Given the description of an element on the screen output the (x, y) to click on. 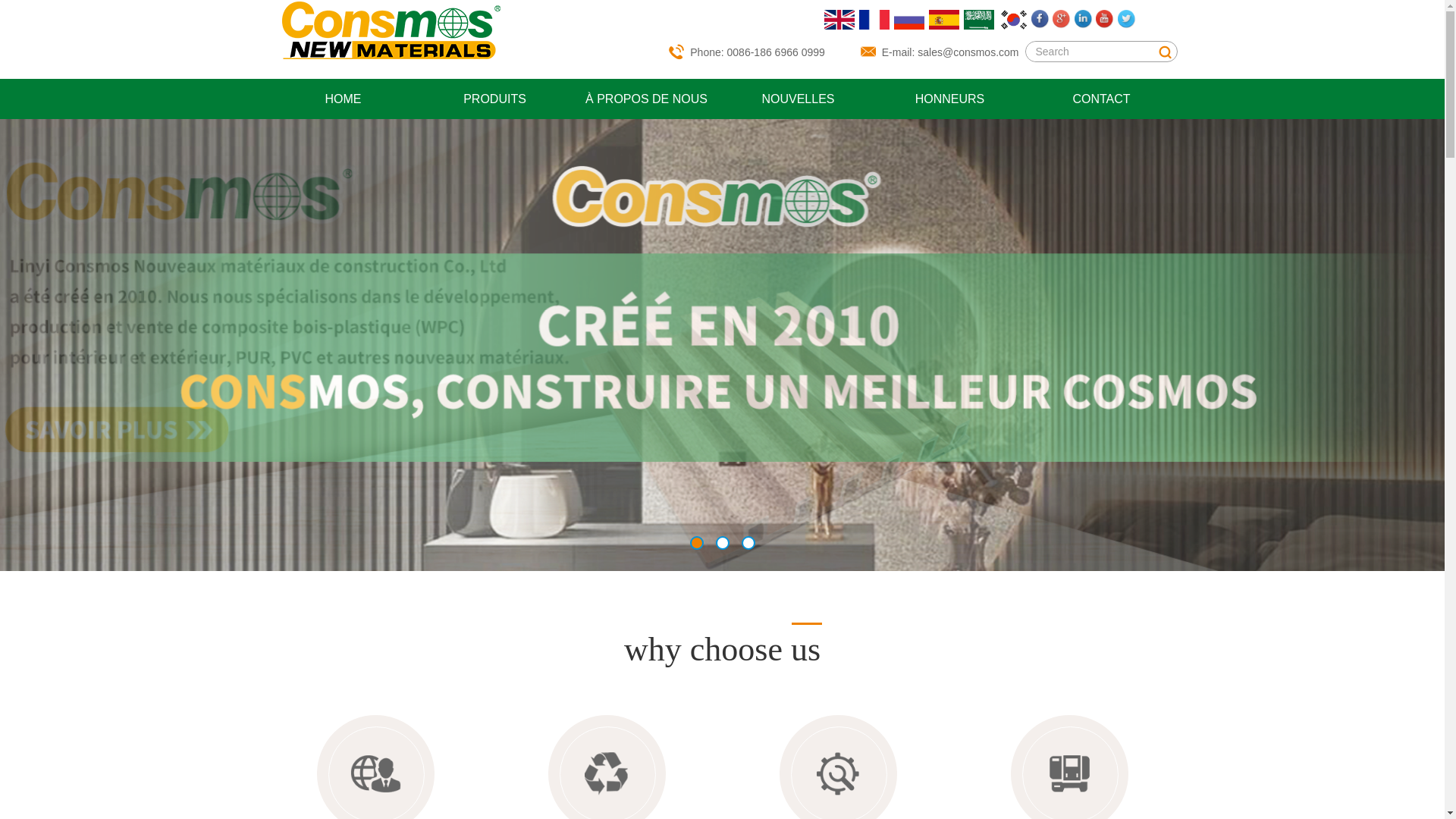
CONTACT Element type: text (1100, 98)
HONNEURS Element type: text (950, 98)
HOME Element type: text (342, 98)
NOUVELLES Element type: text (797, 98)
1 Element type: text (696, 542)
2 Element type: text (722, 542)
sales@consmos.com Element type: text (967, 52)
3 Element type: text (748, 542)
PRODUITS Element type: text (494, 98)
why choose us Element type: text (721, 645)
